Given the description of an element on the screen output the (x, y) to click on. 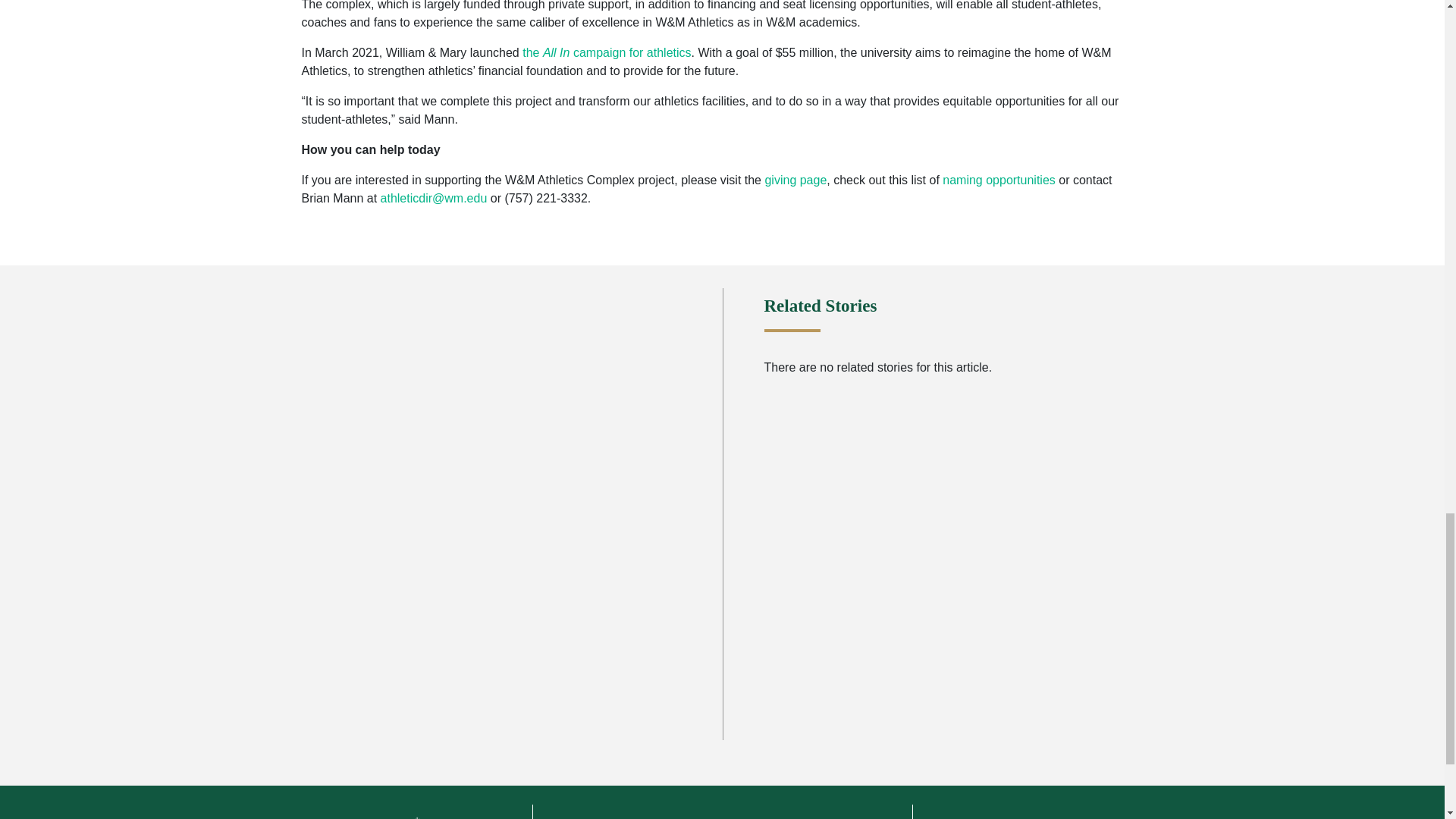
the All In campaign for athletics (605, 51)
giving page (795, 179)
naming opportunities (998, 179)
